Given the description of an element on the screen output the (x, y) to click on. 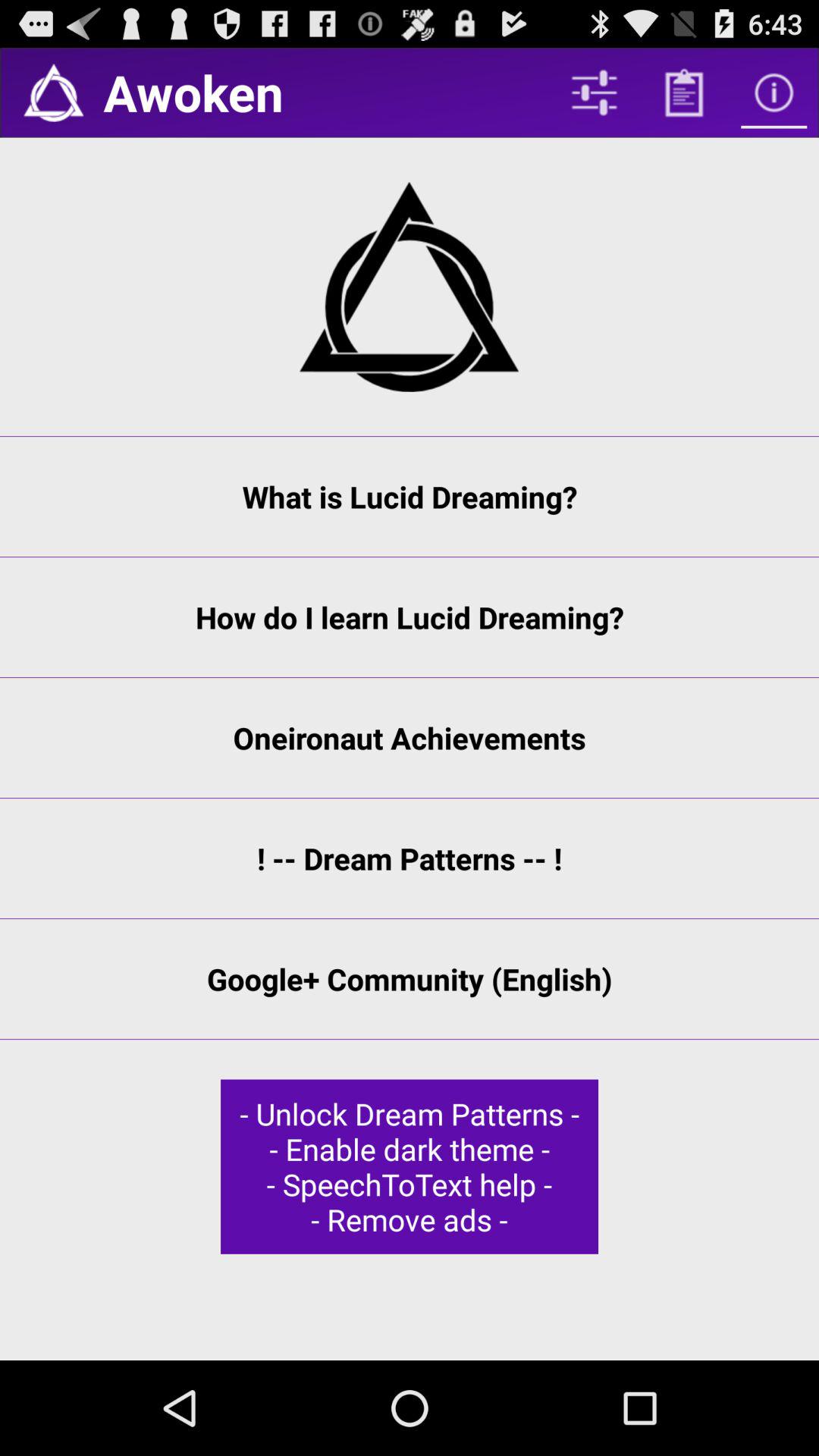
scroll to the oneironaut achievements (409, 737)
